Given the description of an element on the screen output the (x, y) to click on. 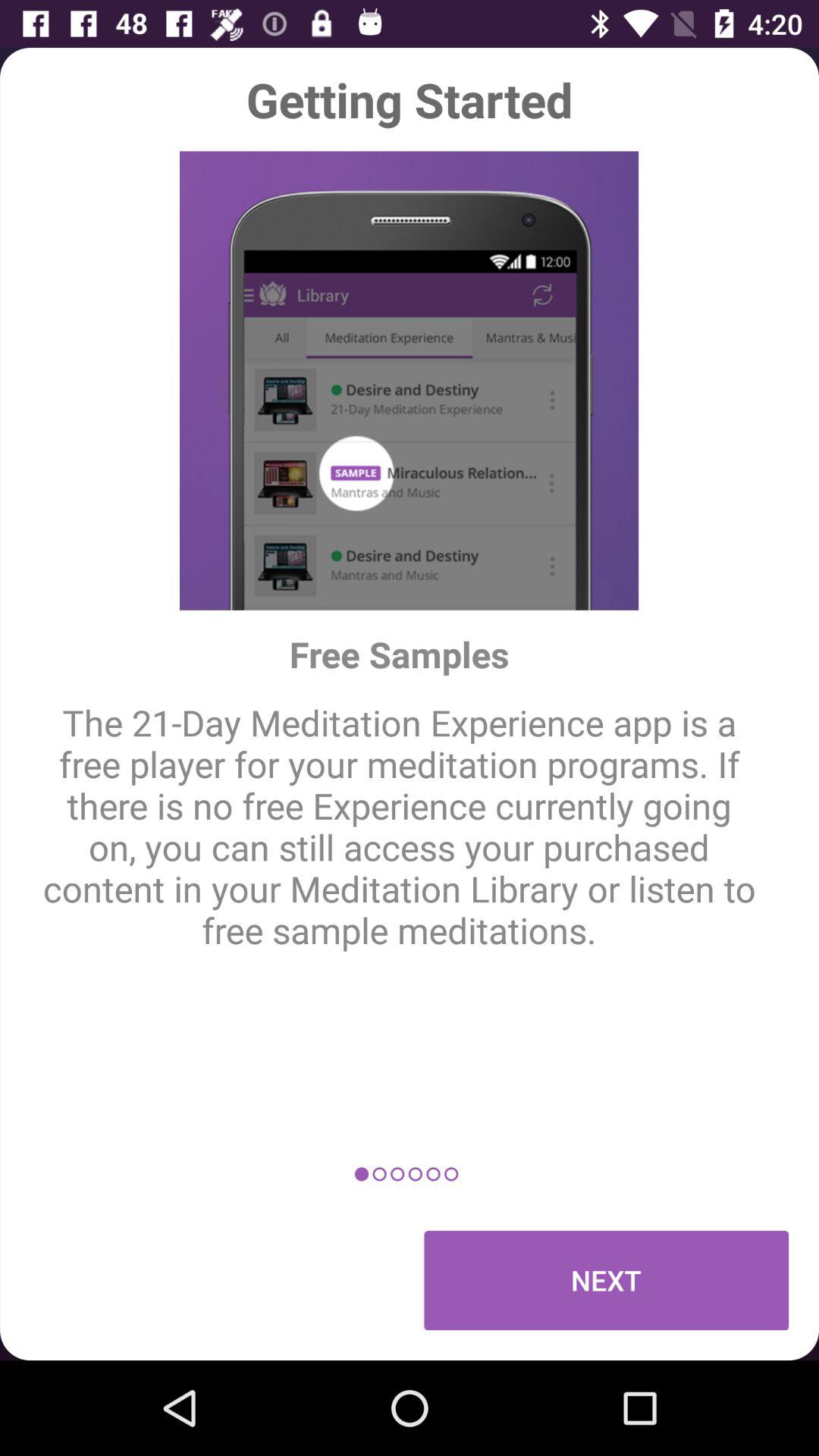
turn on the next item (606, 1280)
